Given the description of an element on the screen output the (x, y) to click on. 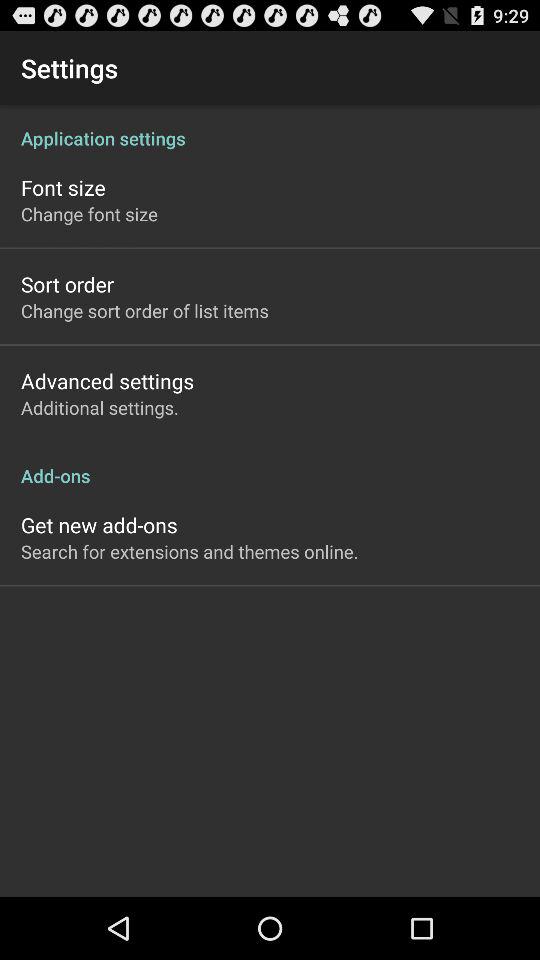
jump to the search for extensions item (189, 551)
